Given the description of an element on the screen output the (x, y) to click on. 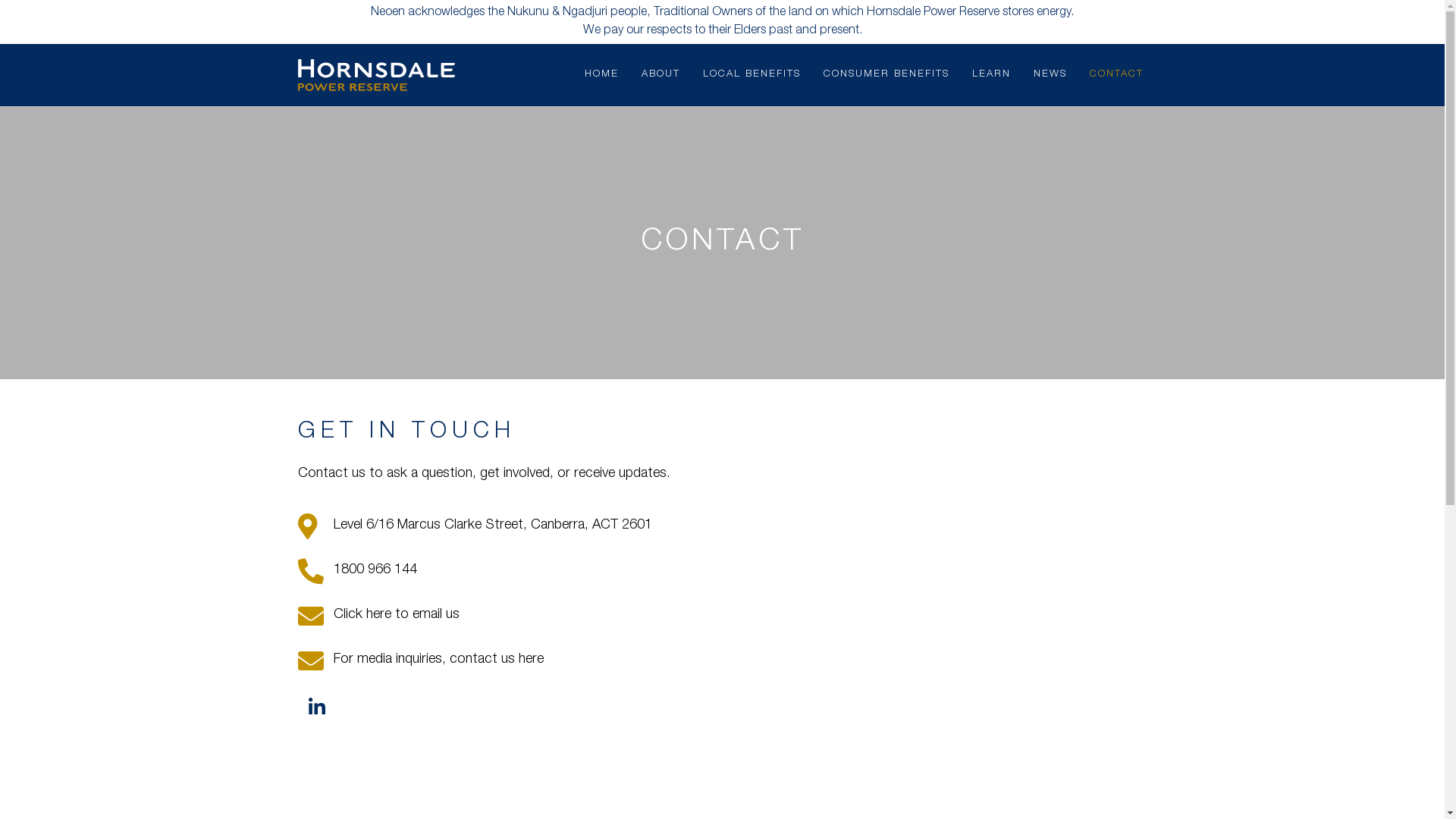
LOCAL BENEFITS Element type: text (751, 74)
LEARN Element type: text (990, 74)
CONSUMER BENEFITS Element type: text (885, 74)
ABOUT Element type: text (659, 74)
CONTACT Element type: text (1116, 74)
HOME Element type: text (601, 74)
Click here to email us Element type: text (721, 615)
NEWS Element type: text (1050, 74)
For media inquiries, contact us here Element type: text (721, 660)
1800 966 144 Element type: text (721, 570)
